Given the description of an element on the screen output the (x, y) to click on. 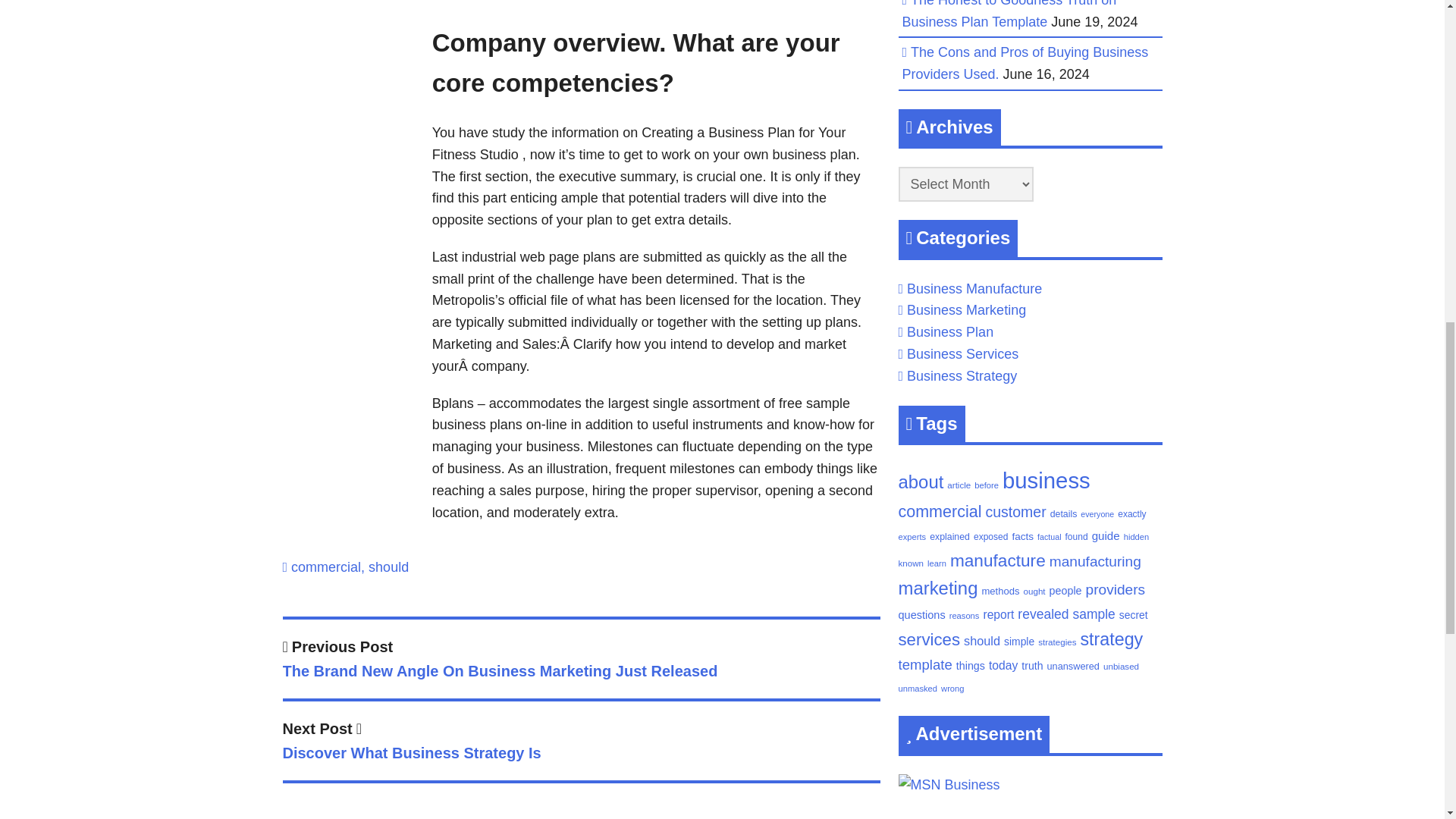
business (1046, 480)
Business Manufacture (974, 288)
Business Services (962, 353)
Business Plan (949, 331)
The Honest to Goodness Truth on Business Plan Template (1009, 14)
Business Marketing (966, 309)
before (986, 484)
commercial (326, 566)
Business Strategy (961, 376)
article (959, 484)
The Cons and Pros of Buying Business Providers Used. (581, 742)
about (1025, 63)
should (920, 481)
